Given the description of an element on the screen output the (x, y) to click on. 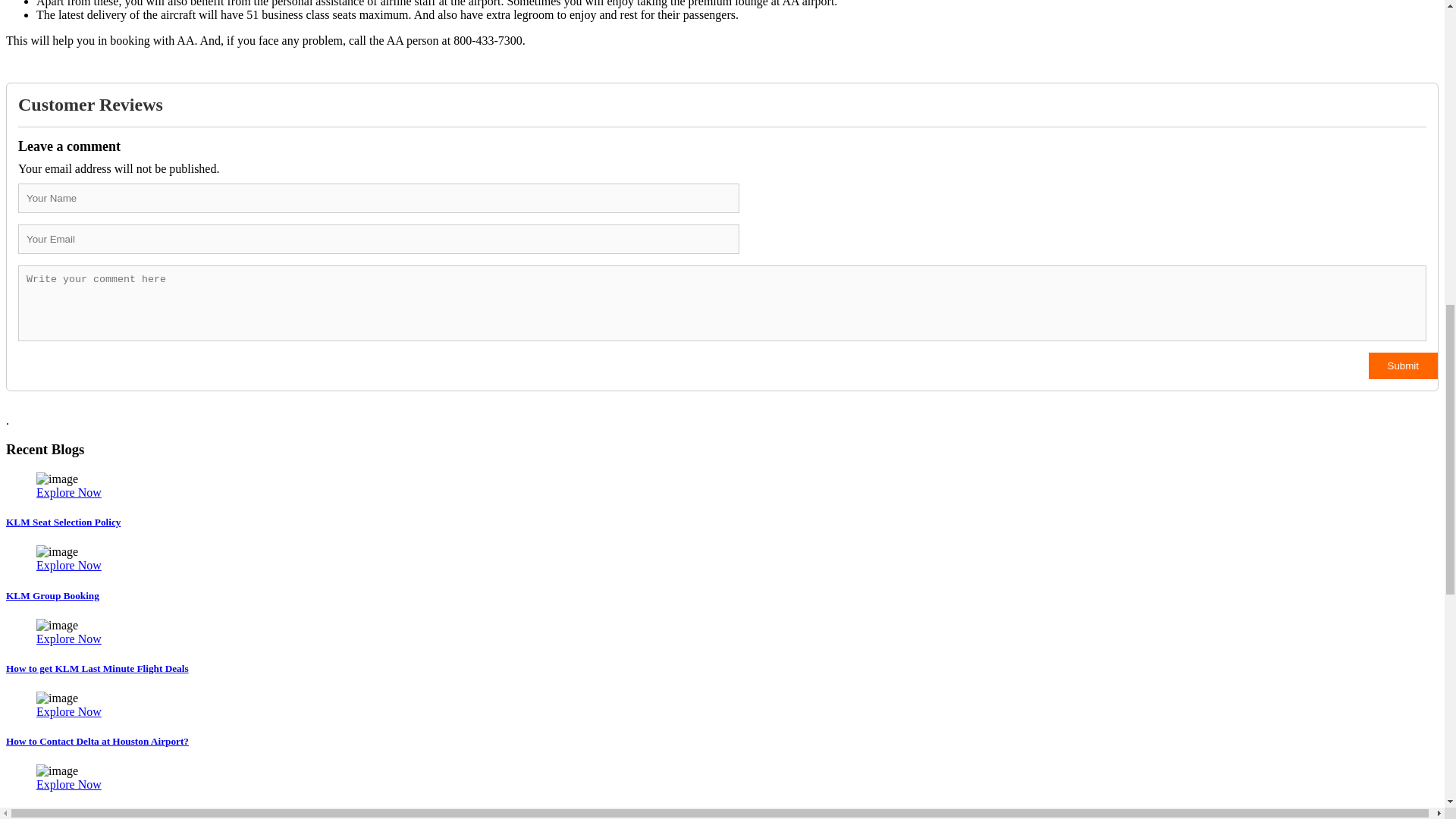
KLM Group Booking (52, 595)
Explore Now (68, 492)
How to Contact Delta at Houston Airport? (97, 740)
Explore Now (68, 711)
Delta Seat Selection (47, 814)
Explore Now (68, 564)
How to get KLM Last Minute Flight Deals (97, 668)
Submit (1403, 365)
KLM Seat Selection Policy (62, 521)
Explore Now (68, 638)
